Given the description of an element on the screen output the (x, y) to click on. 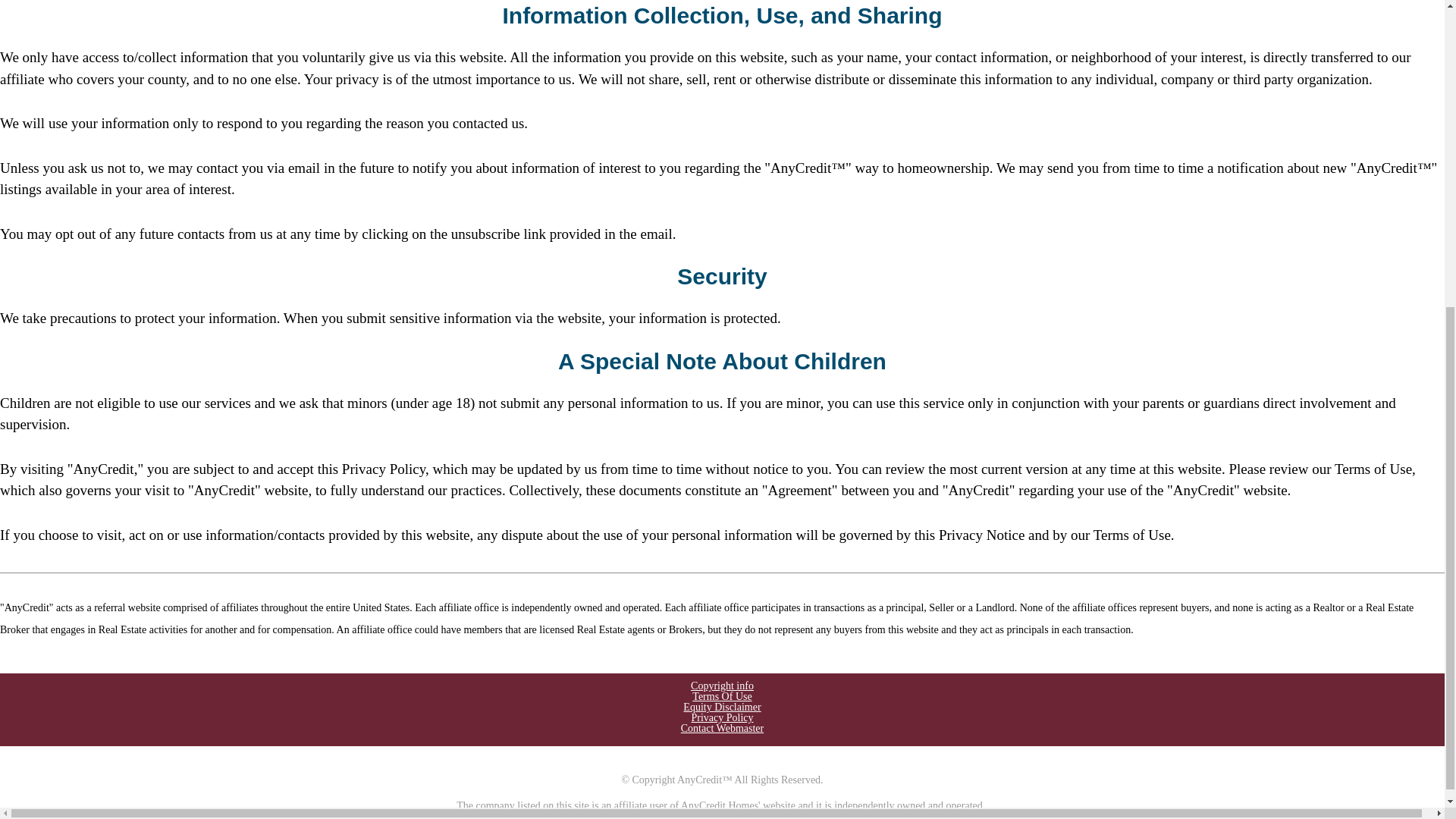
Contact Webmaster (721, 727)
Privacy Policy (721, 717)
Equity Disclaimer (721, 706)
Terms Of Use (722, 696)
Copyright info (722, 685)
